Given the description of an element on the screen output the (x, y) to click on. 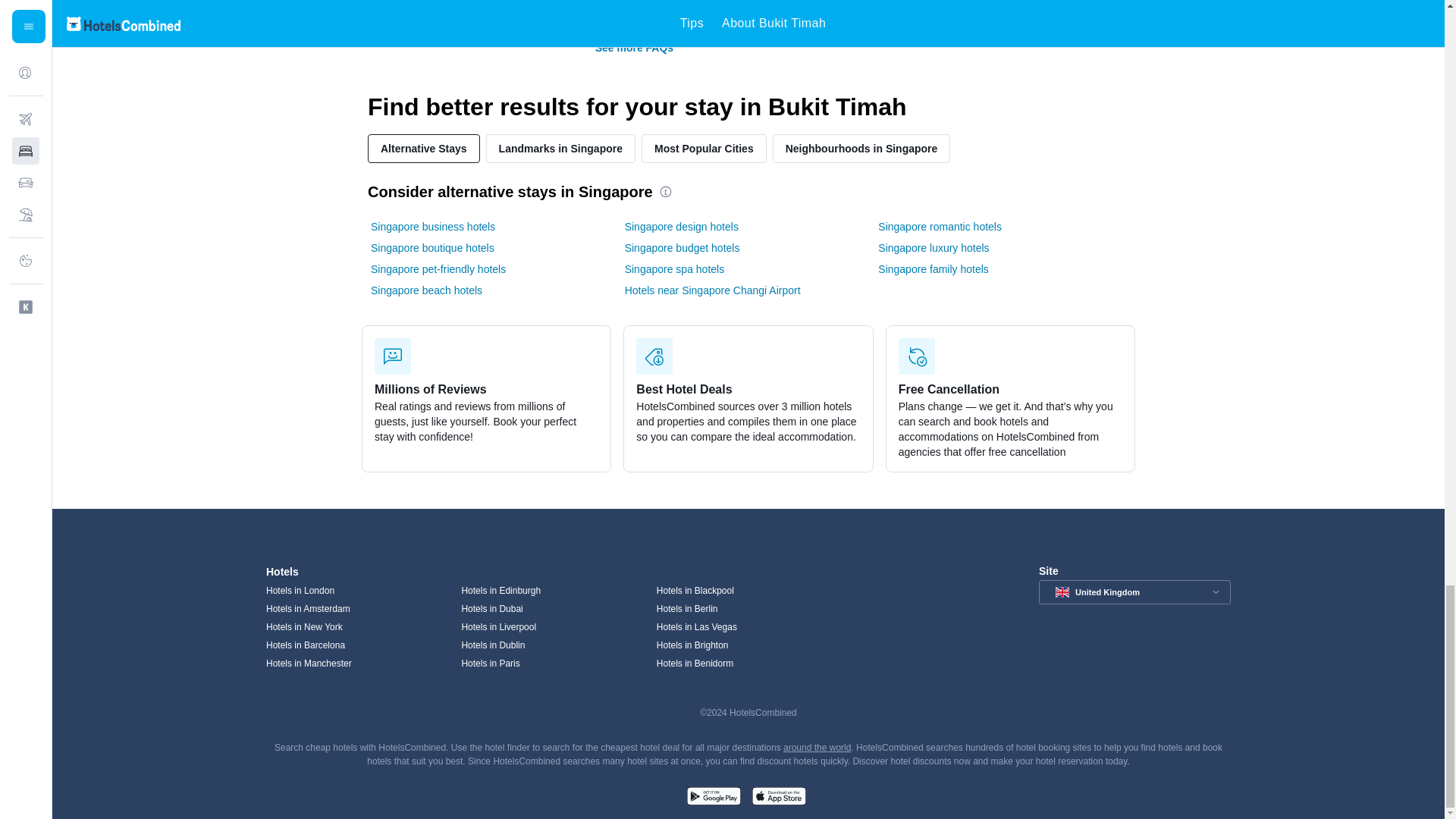
Most Popular Cities (704, 148)
Get it on Google Play (713, 797)
Landmarks in Singapore (560, 148)
Singapore family hotels (932, 268)
Singapore romantic hotels (939, 226)
Singapore pet-friendly hotels (438, 268)
Singapore spa hotels (674, 268)
Singapore budget hotels (681, 247)
Download on the App Store (778, 797)
Singapore luxury hotels (932, 247)
Hotels near Singapore Changi Airport (712, 290)
Alternative Stays (424, 148)
Singapore beach hotels (426, 290)
Singapore design hotels (681, 226)
Singapore boutique hotels (433, 247)
